Given the description of an element on the screen output the (x, y) to click on. 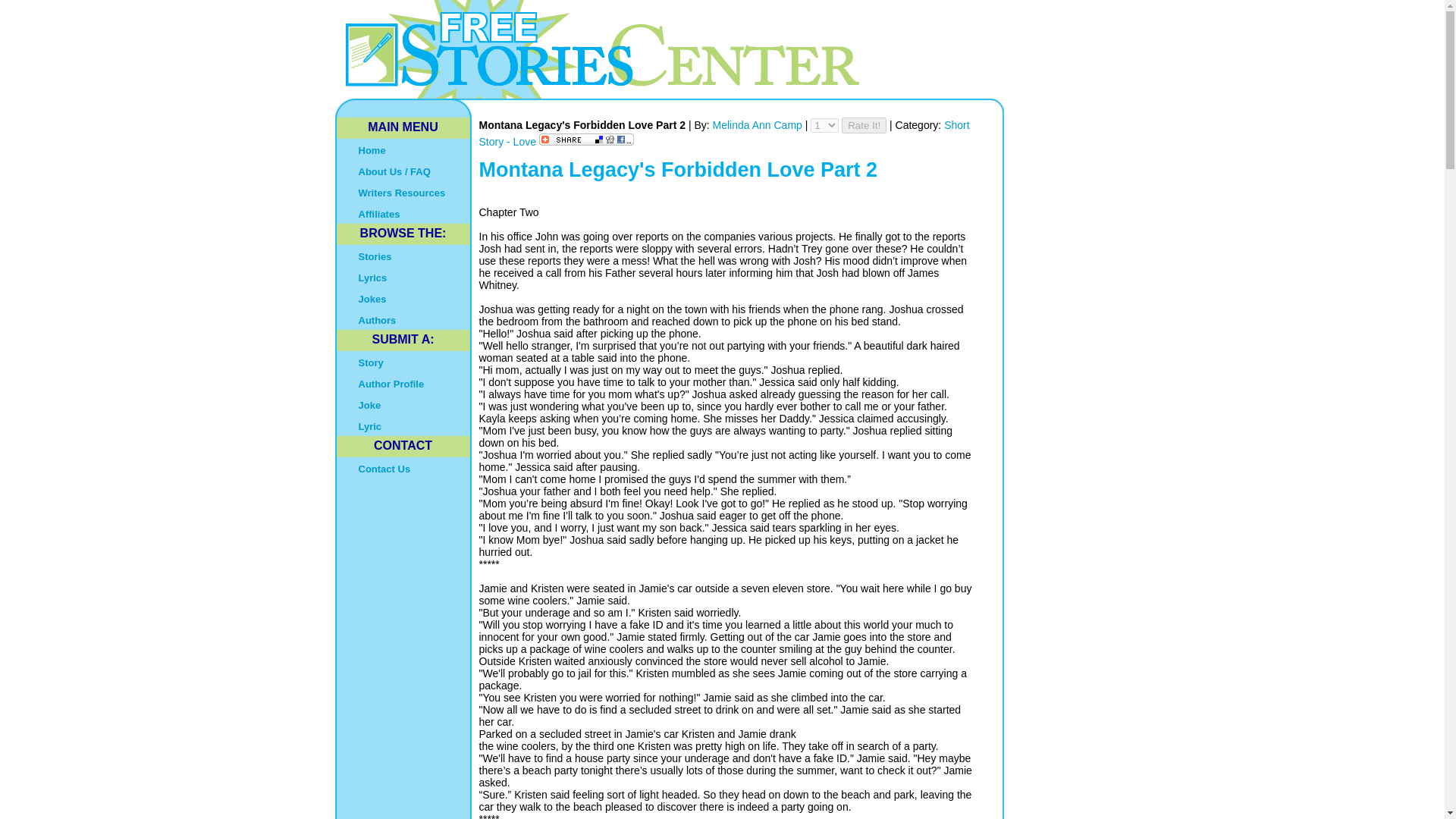
Stories (403, 255)
Contact Us (403, 467)
Short Story - Love (724, 133)
Affiliates (403, 212)
Rate It! (863, 125)
Author Profile (403, 382)
Lyric (403, 424)
Lyrics (403, 276)
Joke (403, 403)
Home (403, 148)
Rate It! (863, 125)
Jokes (403, 297)
Melinda Ann Camp (759, 124)
Authors (403, 319)
Writers Resources (403, 191)
